Given the description of an element on the screen output the (x, y) to click on. 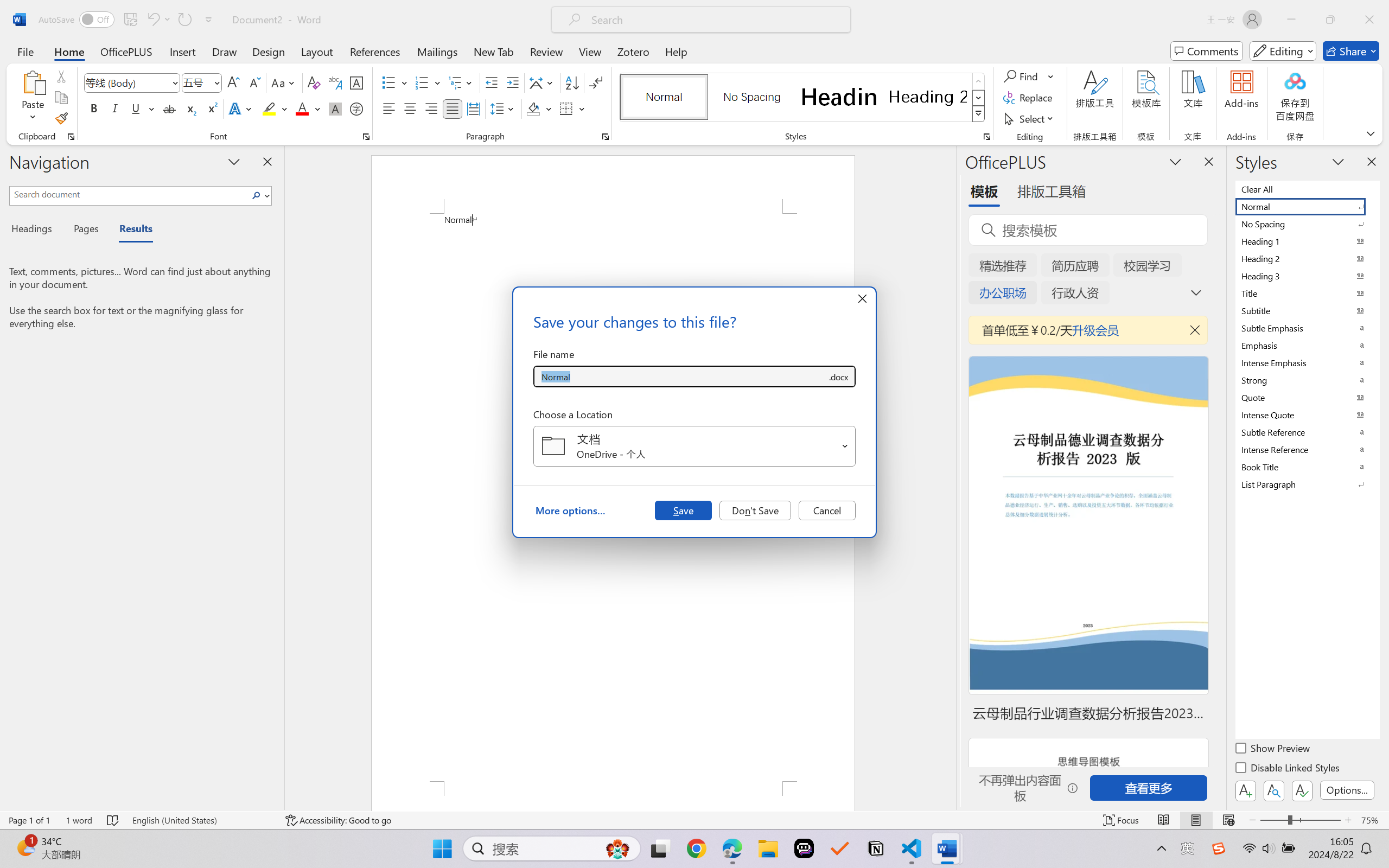
Numbering (421, 82)
List Paragraph (1306, 484)
Emphasis (1306, 345)
Read Mode (1163, 819)
Enclose Characters... (356, 108)
Disable Linked Styles (1287, 769)
Find (1029, 75)
Font... (365, 136)
Home (69, 51)
Search document (128, 193)
Font Size (201, 82)
